Given the description of an element on the screen output the (x, y) to click on. 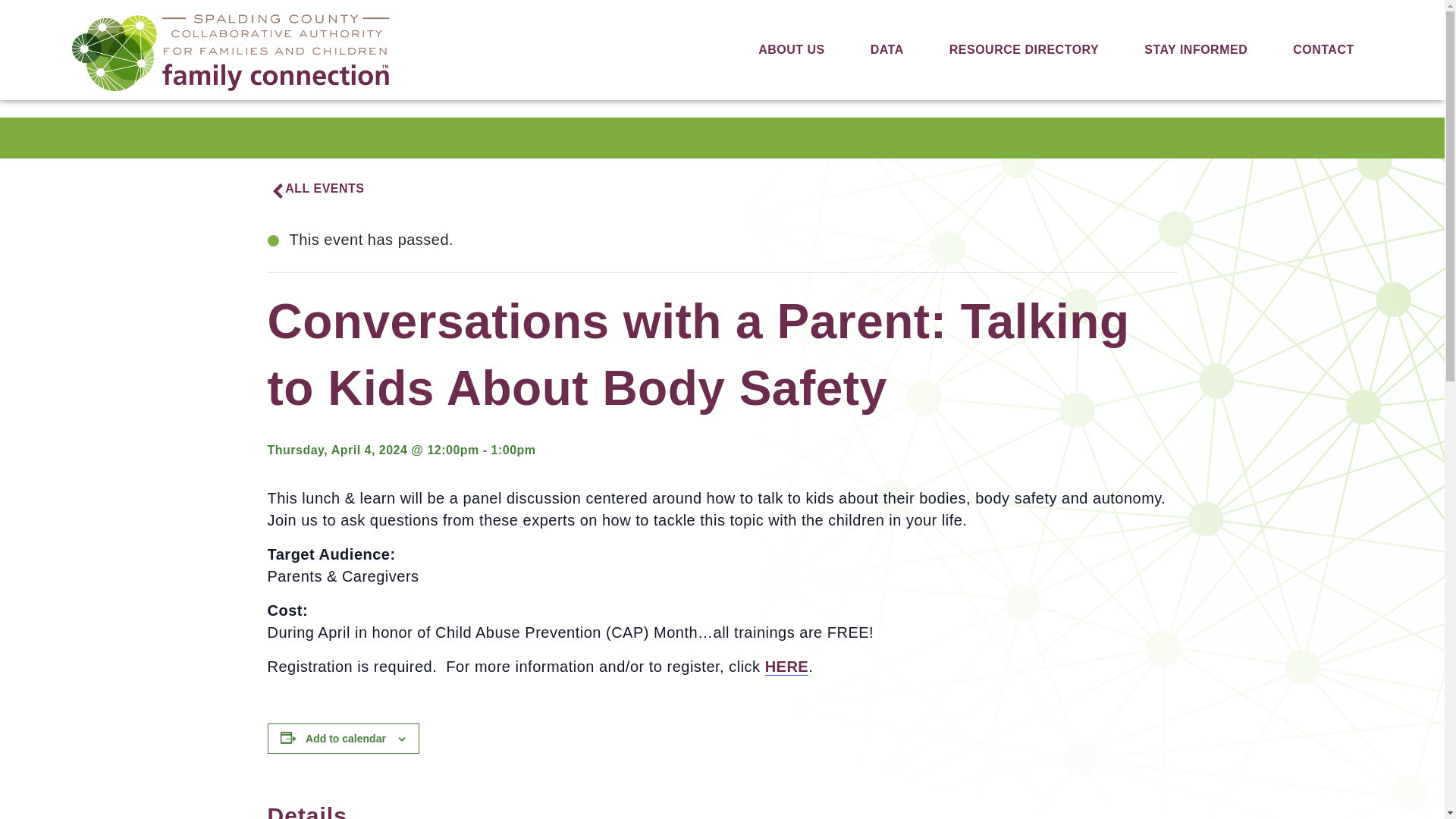
HERE (787, 666)
Add to calendar (345, 738)
ABOUT US (791, 49)
CONTACT (1324, 49)
DATA (886, 49)
STAY INFORMED (1195, 49)
RESOURCE DIRECTORY (1023, 49)
